Given the description of an element on the screen output the (x, y) to click on. 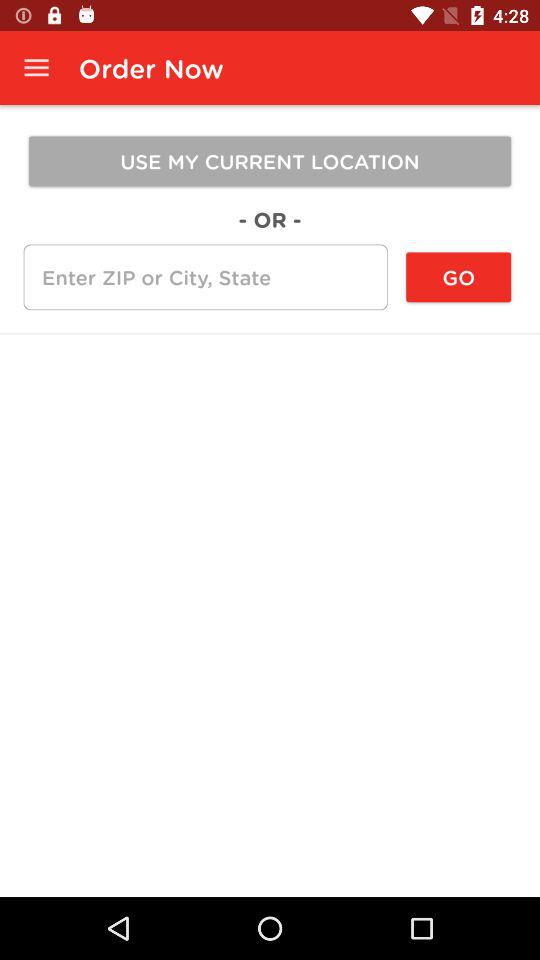
select the icon below the - or - (205, 277)
